Given the description of an element on the screen output the (x, y) to click on. 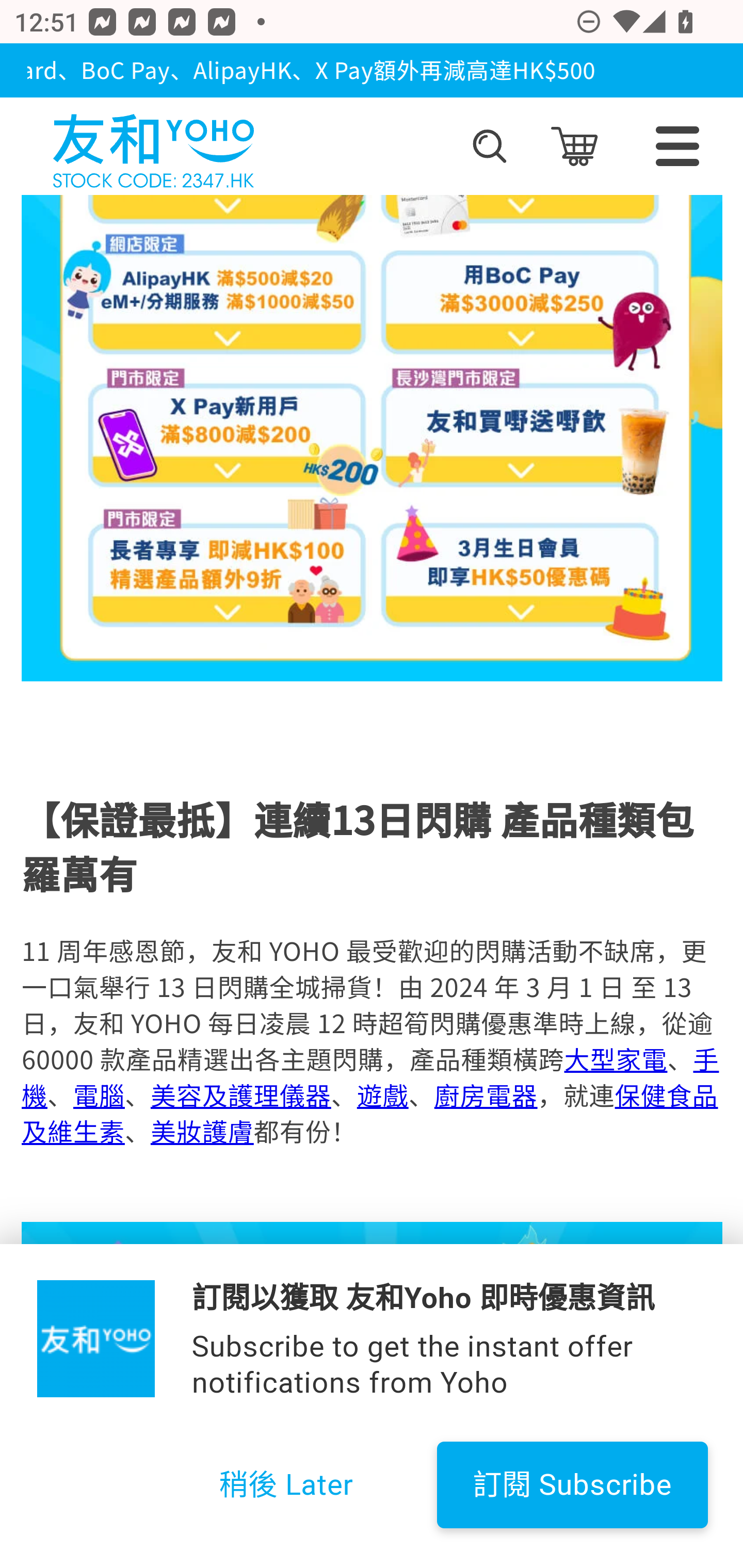
cart (574, 146)
友和 YOHO (153, 146)
手機 (370, 1077)
大型家電 (615, 1059)
保健食品及維生素 (369, 1113)
電腦 (99, 1095)
美容及護理儀器 (240, 1095)
遊戲 (382, 1095)
廚房電器 (485, 1095)
美妝護膚 (201, 1131)
flashdeal 1708889152547040623 (372, 1394)
